Given the description of an element on the screen output the (x, y) to click on. 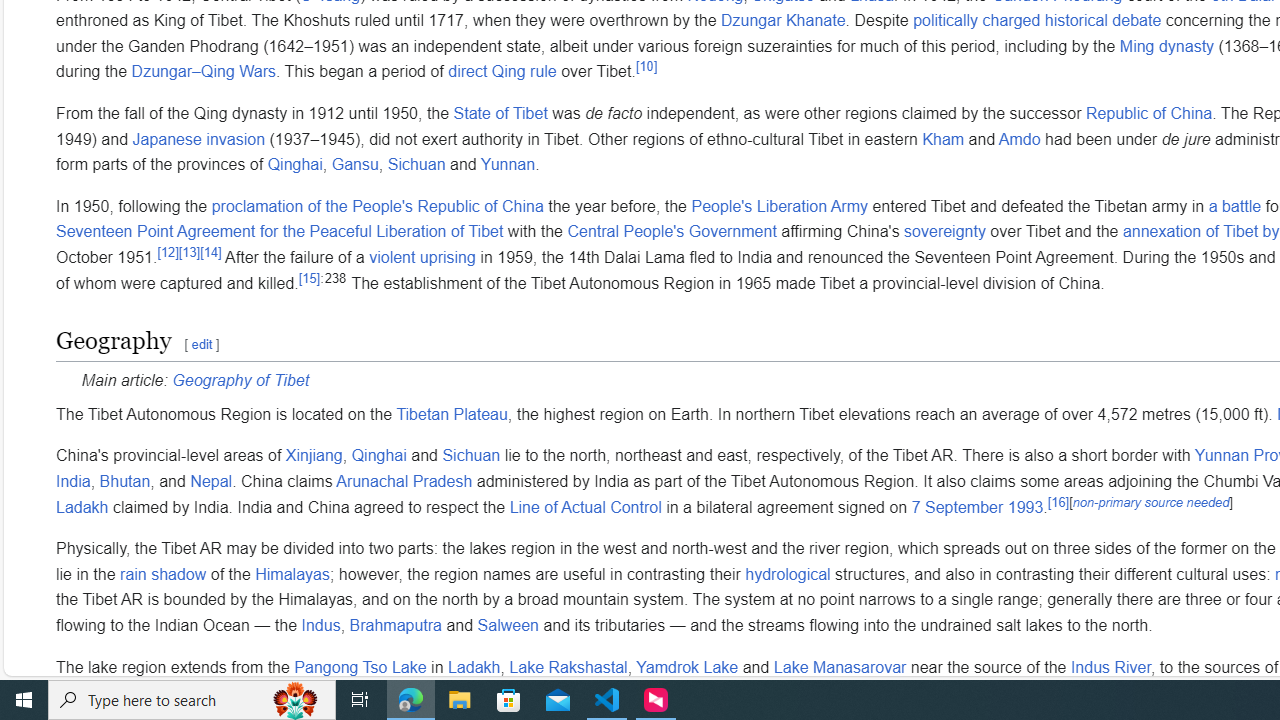
Xinjiang (314, 456)
Lake Manasarovar (840, 667)
State of Tibet (500, 114)
proclamation of the People's Republic of China (377, 206)
Dzungar Khanate (783, 21)
